Given the description of an element on the screen output the (x, y) to click on. 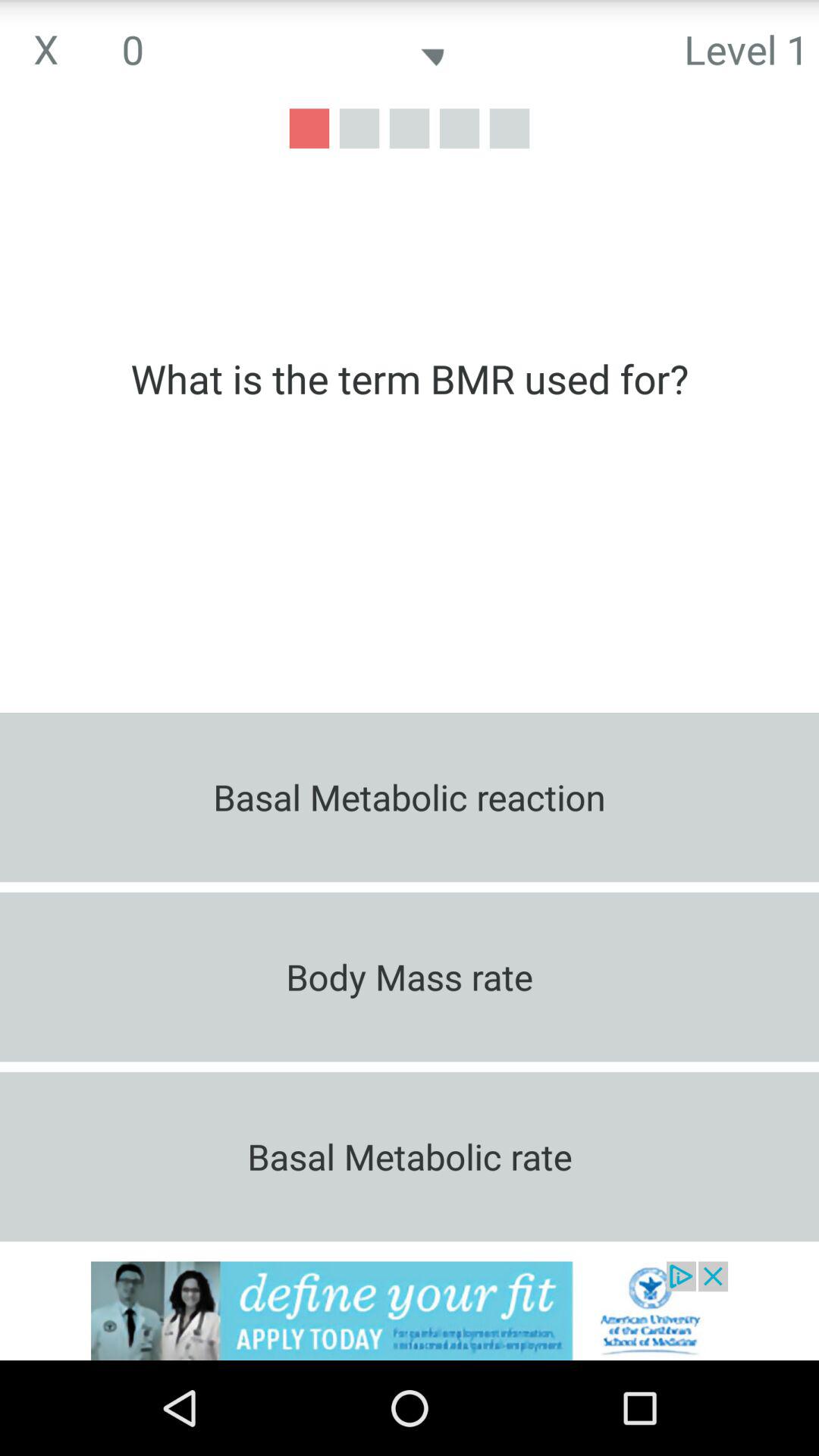
advertisements place (409, 1310)
